Given the description of an element on the screen output the (x, y) to click on. 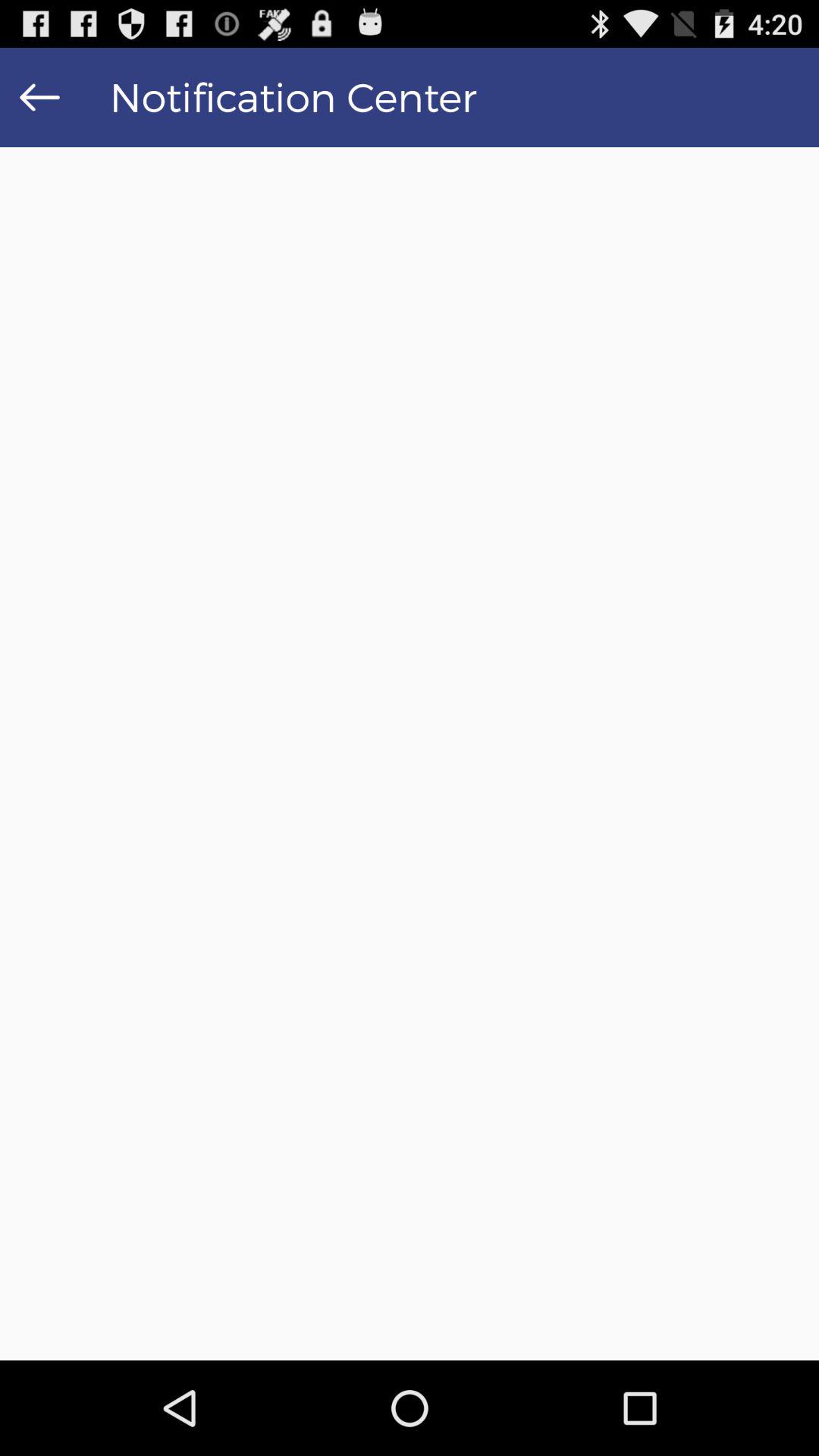
go to previous screen (39, 97)
